Given the description of an element on the screen output the (x, y) to click on. 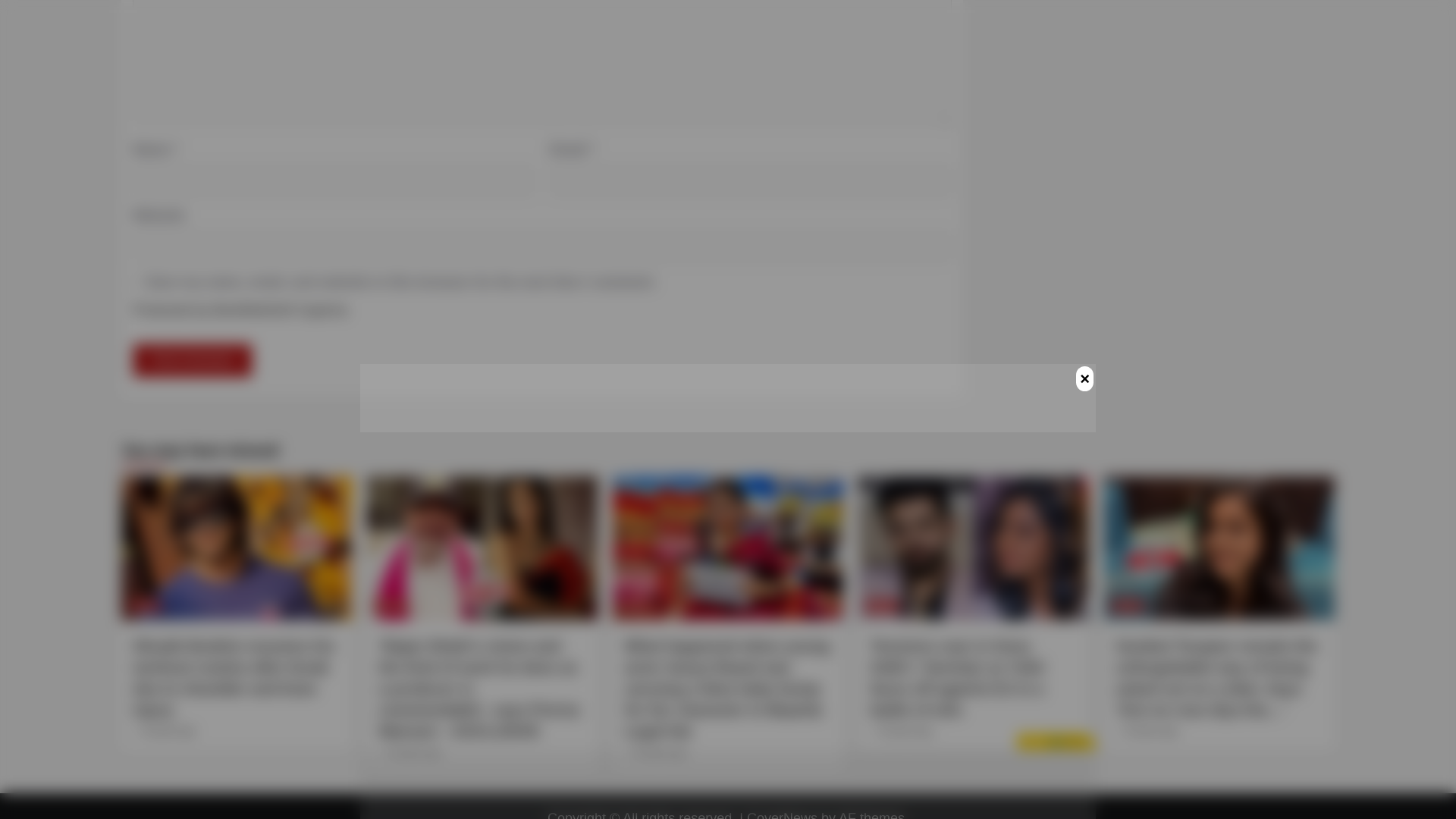
Post Comment (191, 360)
